Given the description of an element on the screen output the (x, y) to click on. 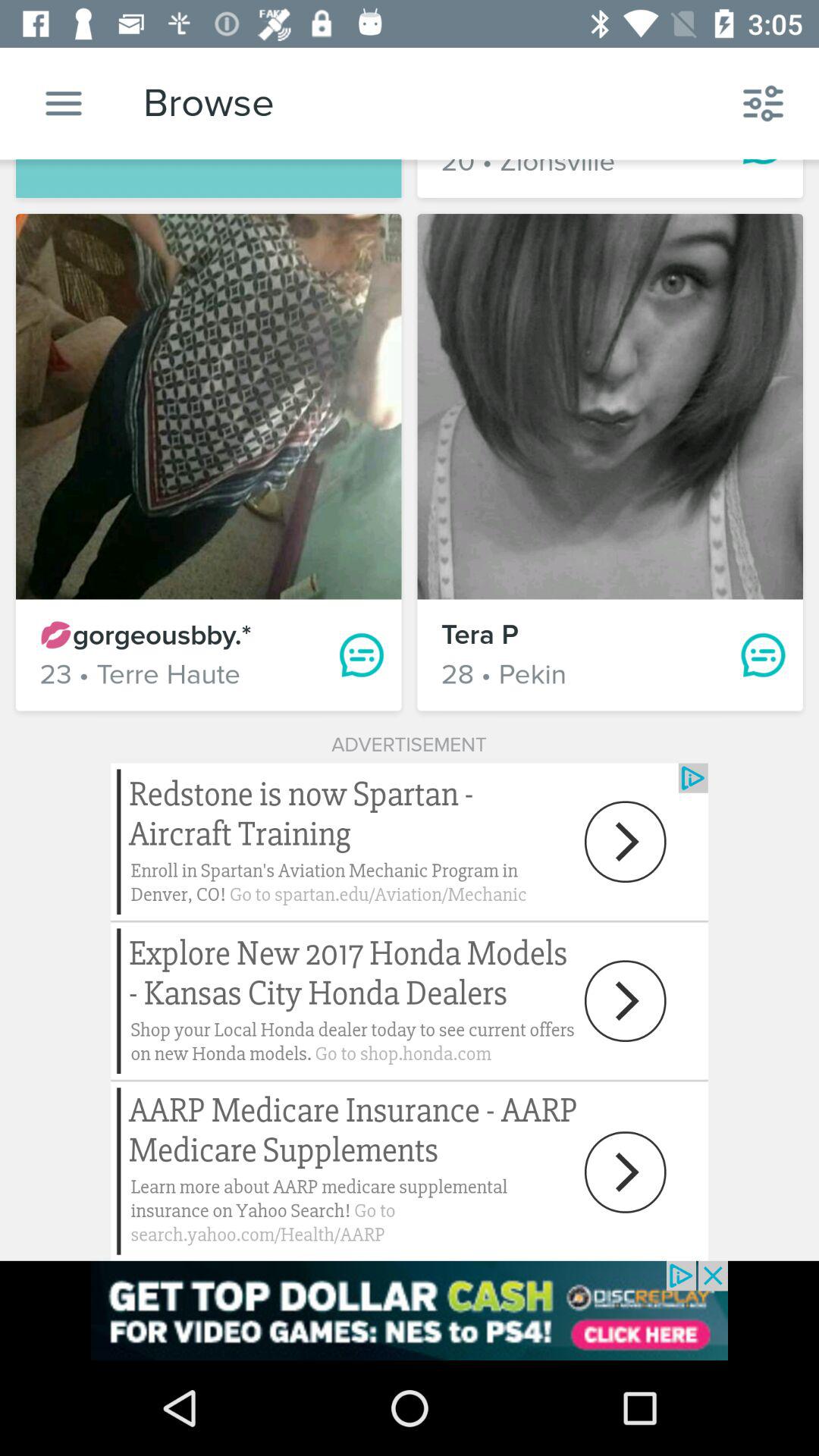
search (63, 103)
